Given the description of an element on the screen output the (x, y) to click on. 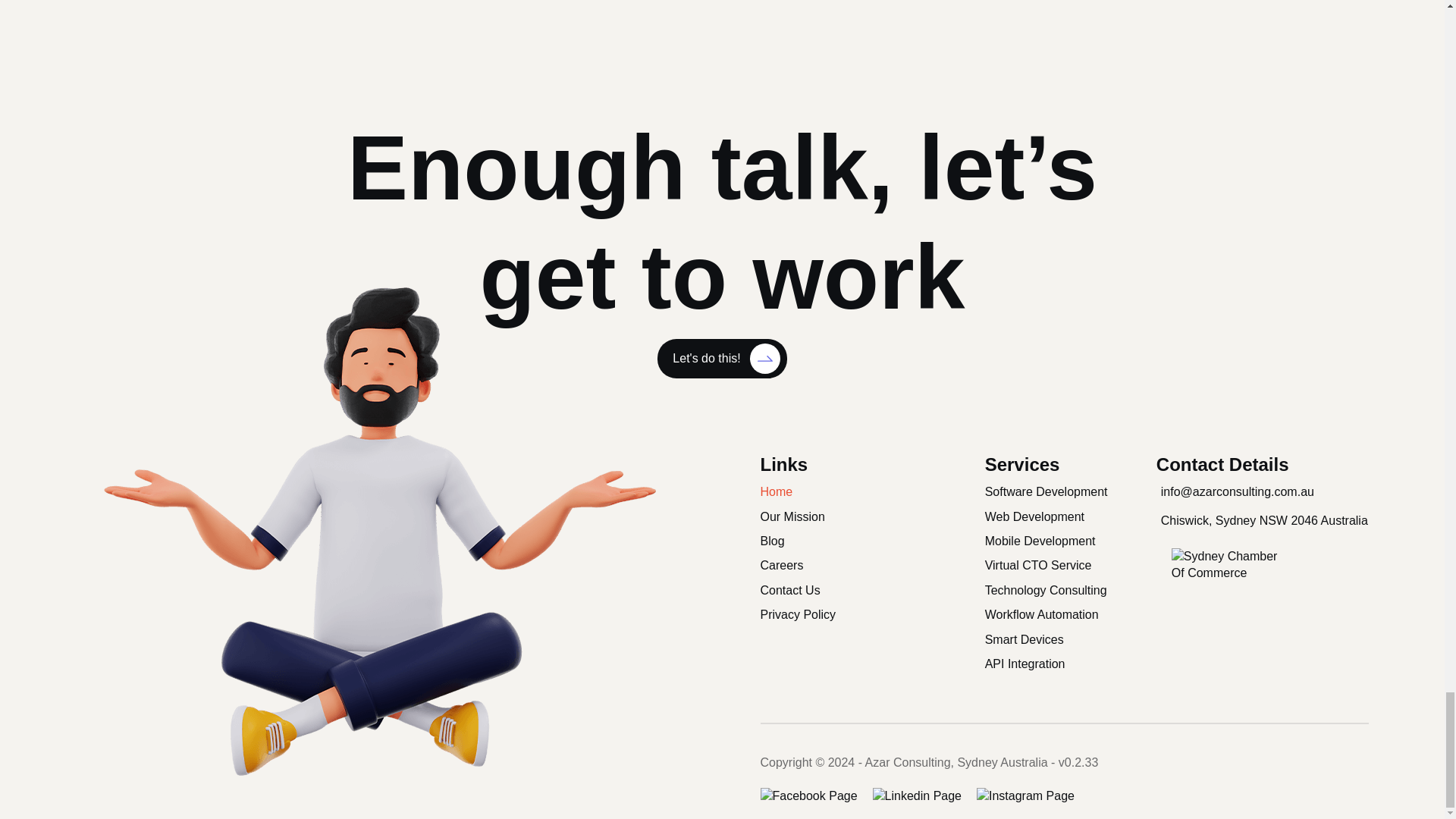
Privacy Policy (810, 614)
Home (810, 492)
Careers (810, 565)
Our Mission (810, 516)
Blog (810, 541)
Let's do this! (722, 358)
Mobile Development (1064, 541)
Contact Us (810, 590)
Virtual CTO Service (1064, 565)
Technology Consulting (1064, 590)
Web Development (1064, 516)
Workflow Automation (1064, 614)
Software Development (1064, 492)
